Given the description of an element on the screen output the (x, y) to click on. 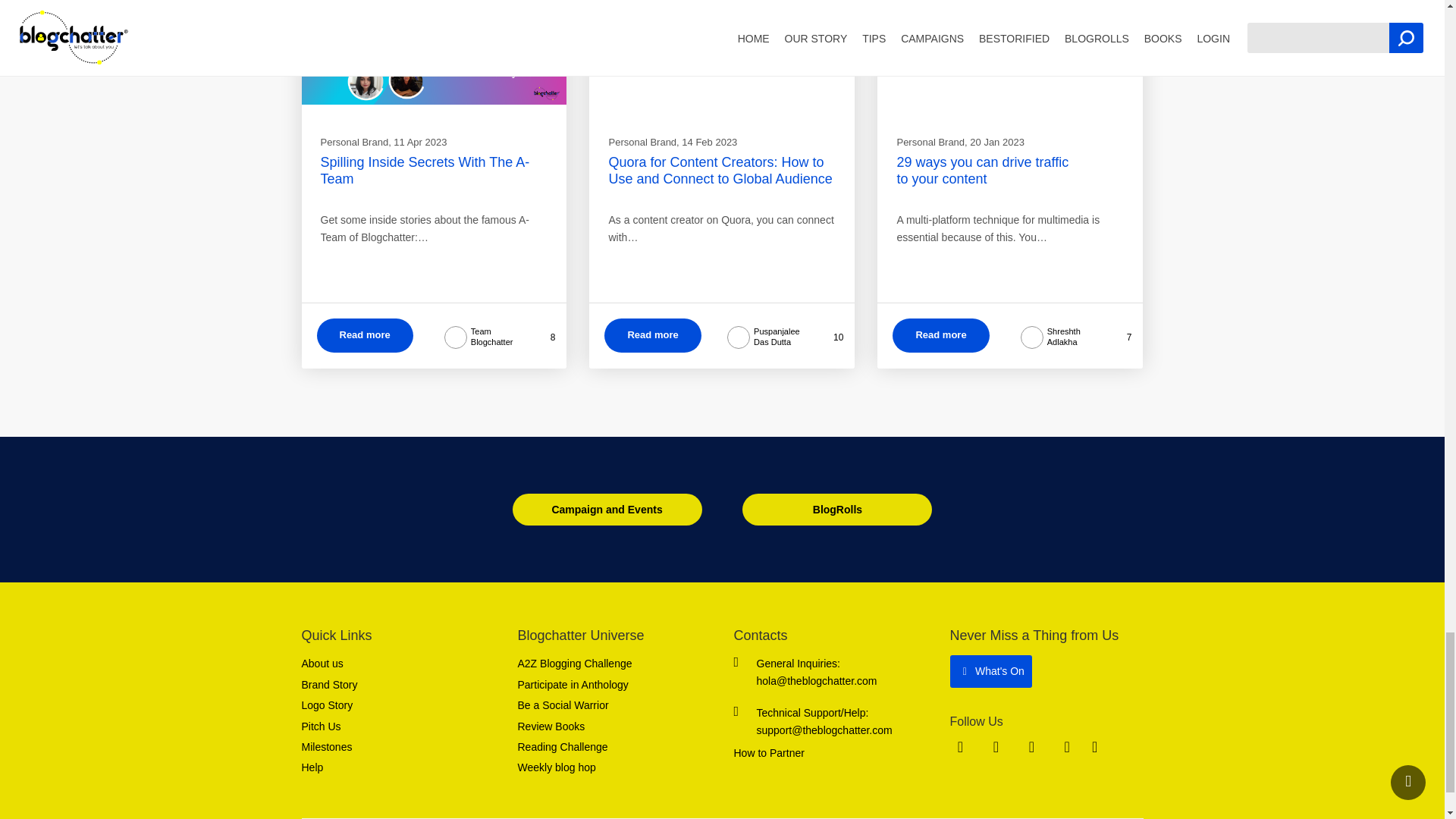
Like this post (825, 336)
Like this post (540, 336)
Like this post (1117, 336)
